Given the description of an element on the screen output the (x, y) to click on. 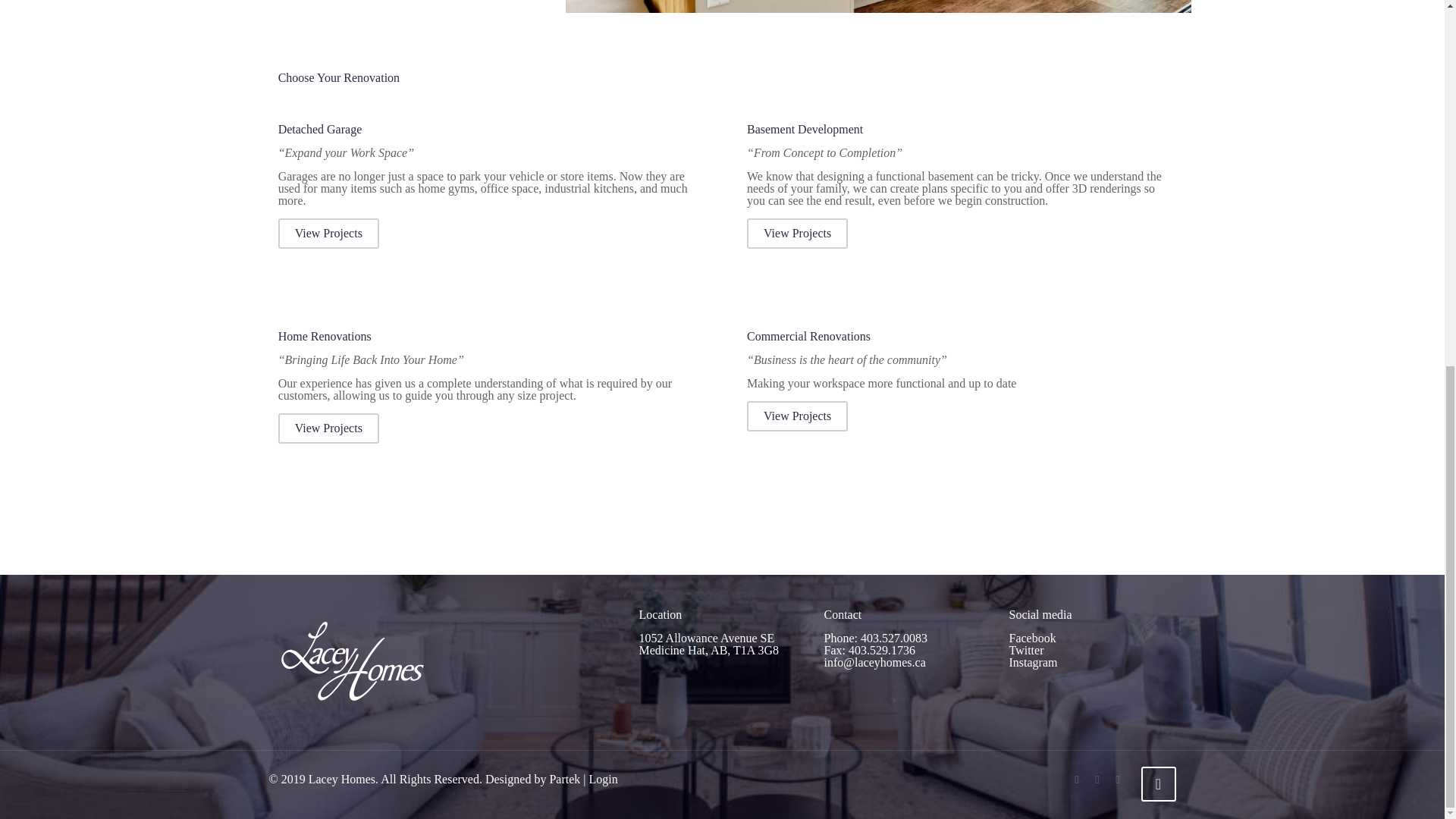
Instagram (1117, 779)
Instagram (1033, 662)
Twitter (1026, 649)
Twitter (1097, 779)
Facebook (1076, 779)
View Projects (328, 428)
View Projects (796, 233)
View Projects (796, 416)
403.527.0083 (893, 637)
Login (602, 779)
Partek (563, 779)
View Projects (328, 233)
Facebook (1032, 637)
